Given the description of an element on the screen output the (x, y) to click on. 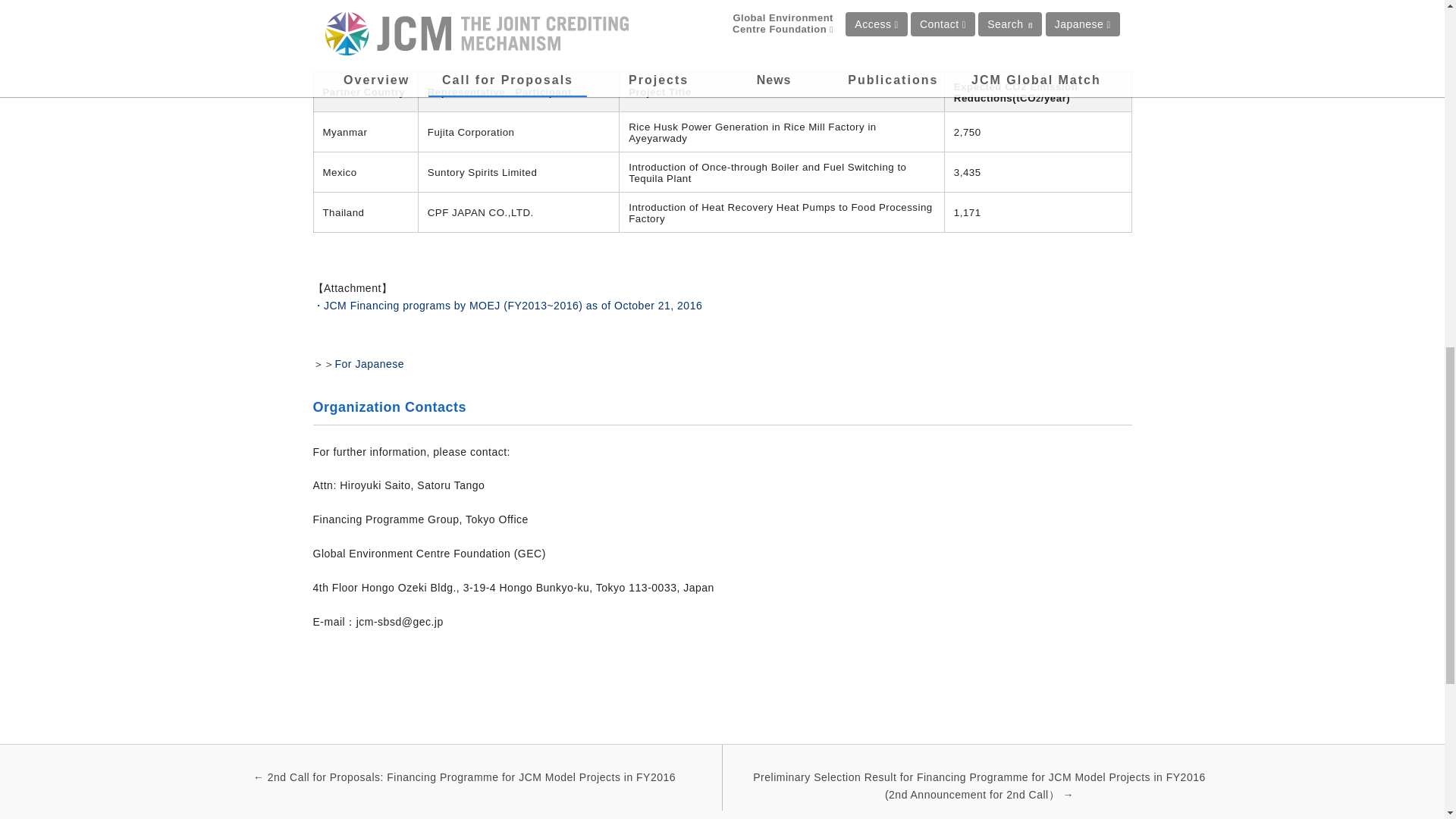
For Japanese (369, 363)
